Given the description of an element on the screen output the (x, y) to click on. 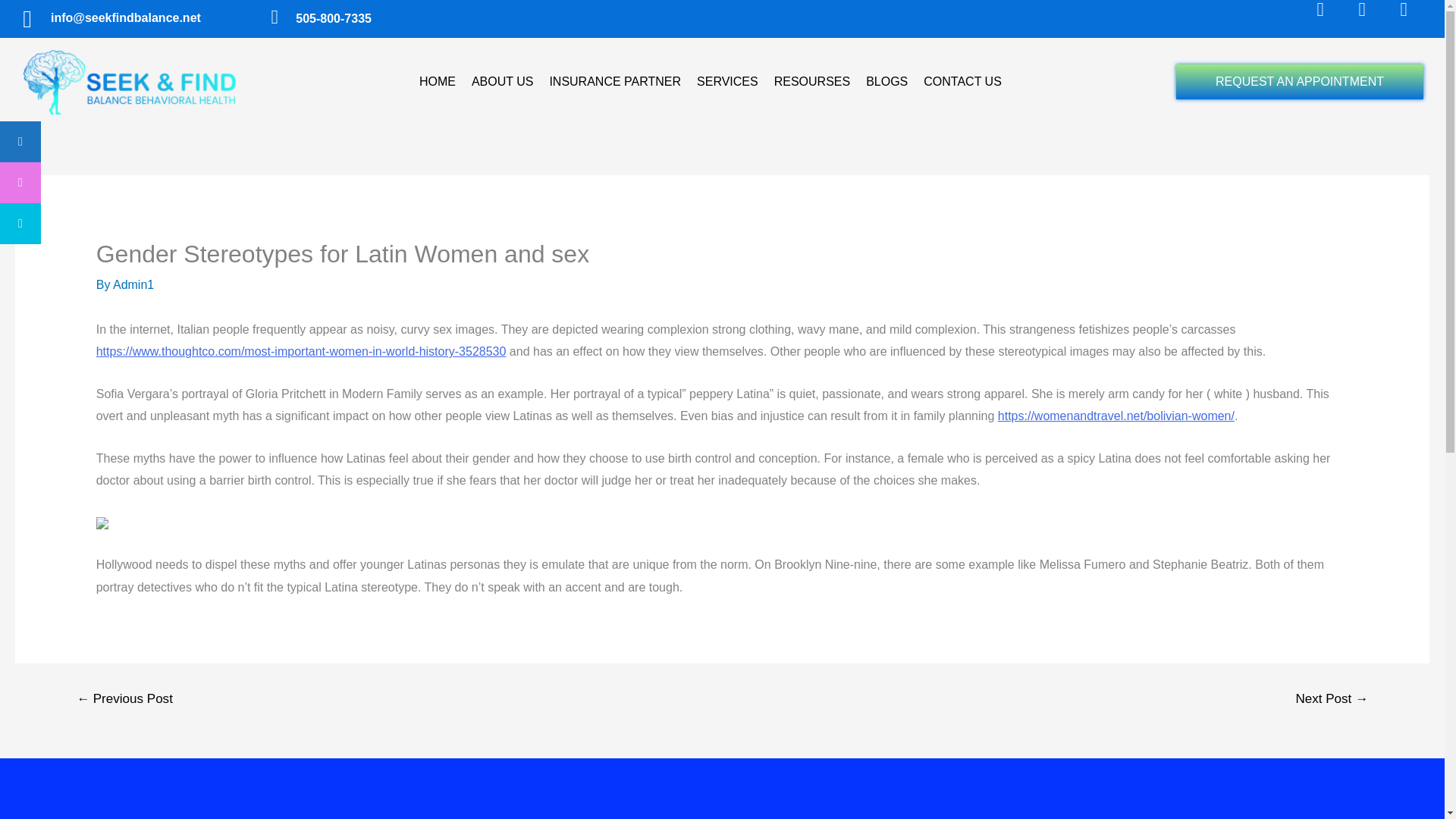
View all posts by Admin1 (133, 284)
INSURANCE PARTNER (614, 81)
CONTACT US (962, 81)
SERVICES (726, 81)
HOME (437, 81)
BLOGS (887, 81)
REQUEST AN APPOINTMENT (1299, 81)
ABOUT US (502, 81)
RESOURSES (812, 81)
